Given the description of an element on the screen output the (x, y) to click on. 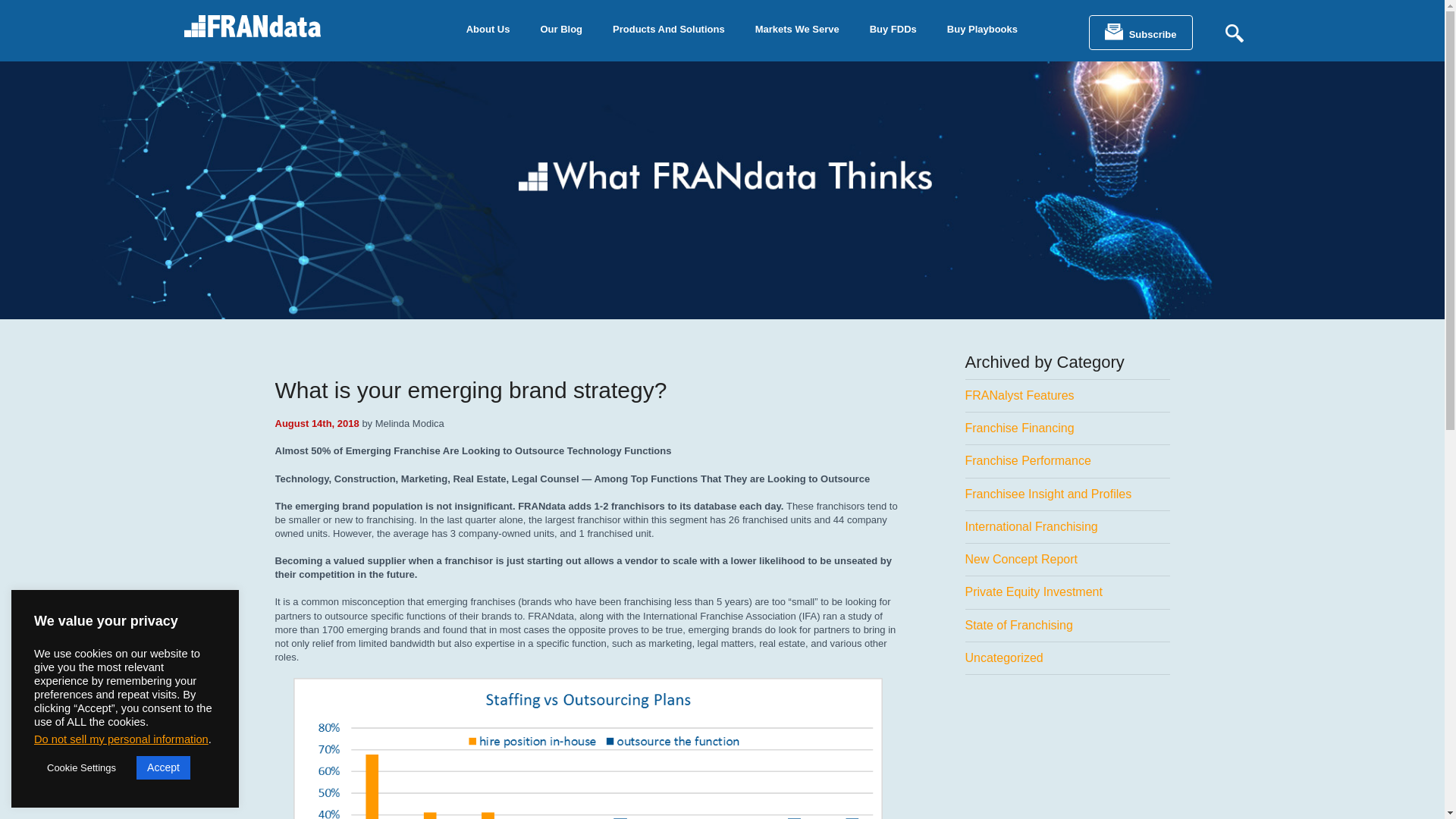
Our Blog (560, 27)
Markets We Serve (796, 27)
Products And Solutions (667, 27)
About Us (488, 27)
